Given the description of an element on the screen output the (x, y) to click on. 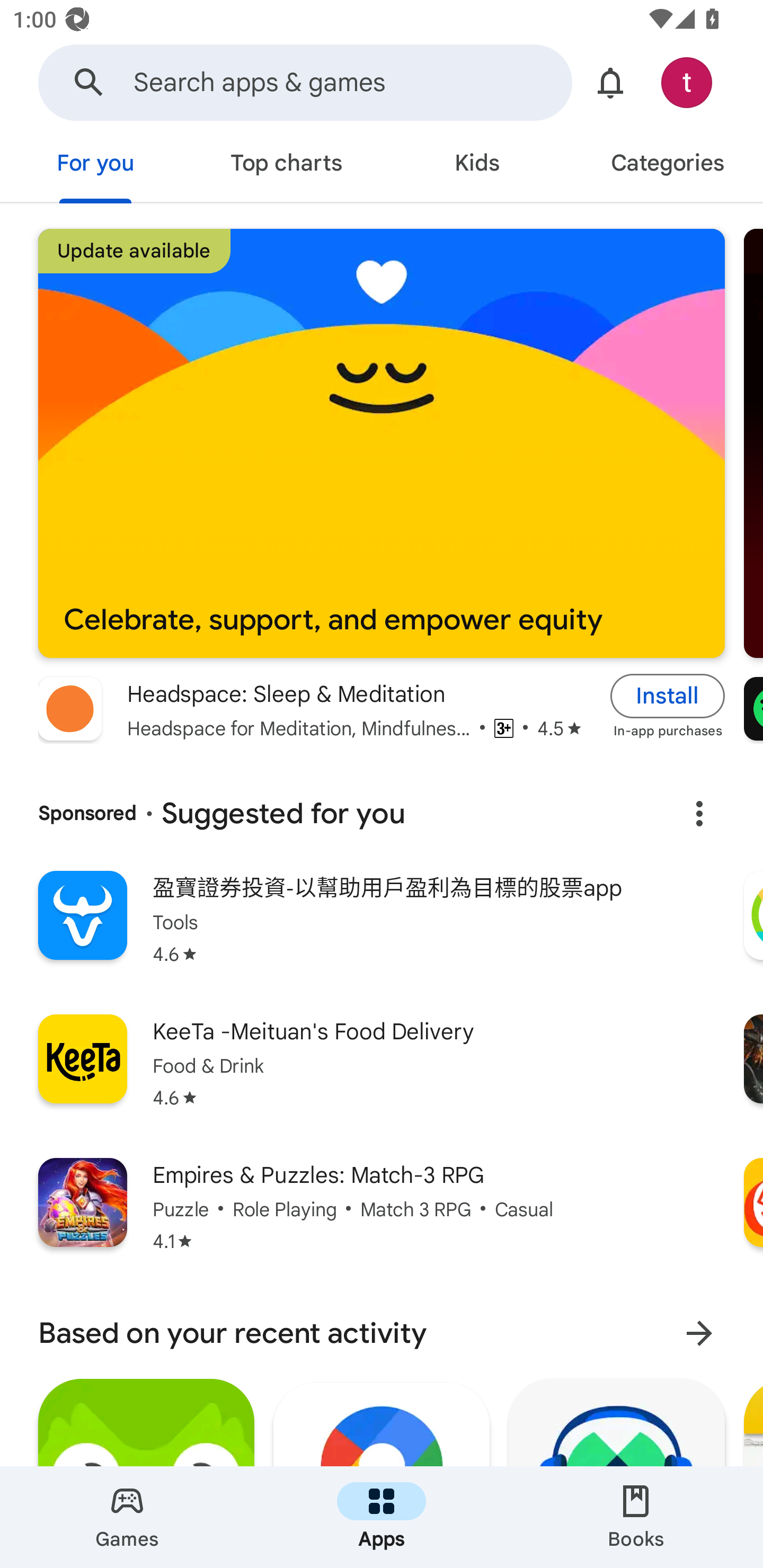
Search Google Play Search apps & games (305, 81)
Search Google Play (89, 81)
Show notifications and offers. (610, 81)
Top charts (285, 165)
Kids (476, 165)
Categories (667, 165)
Install (667, 695)
About this ad (699, 813)
盈寶證券投資-以幫助用戶盈利為目標的股票app
Tools
Star rating: 4.6
 (381, 929)
More results for Based on your recent activity (699, 1333)
Games (127, 1517)
Books (635, 1517)
